Given the description of an element on the screen output the (x, y) to click on. 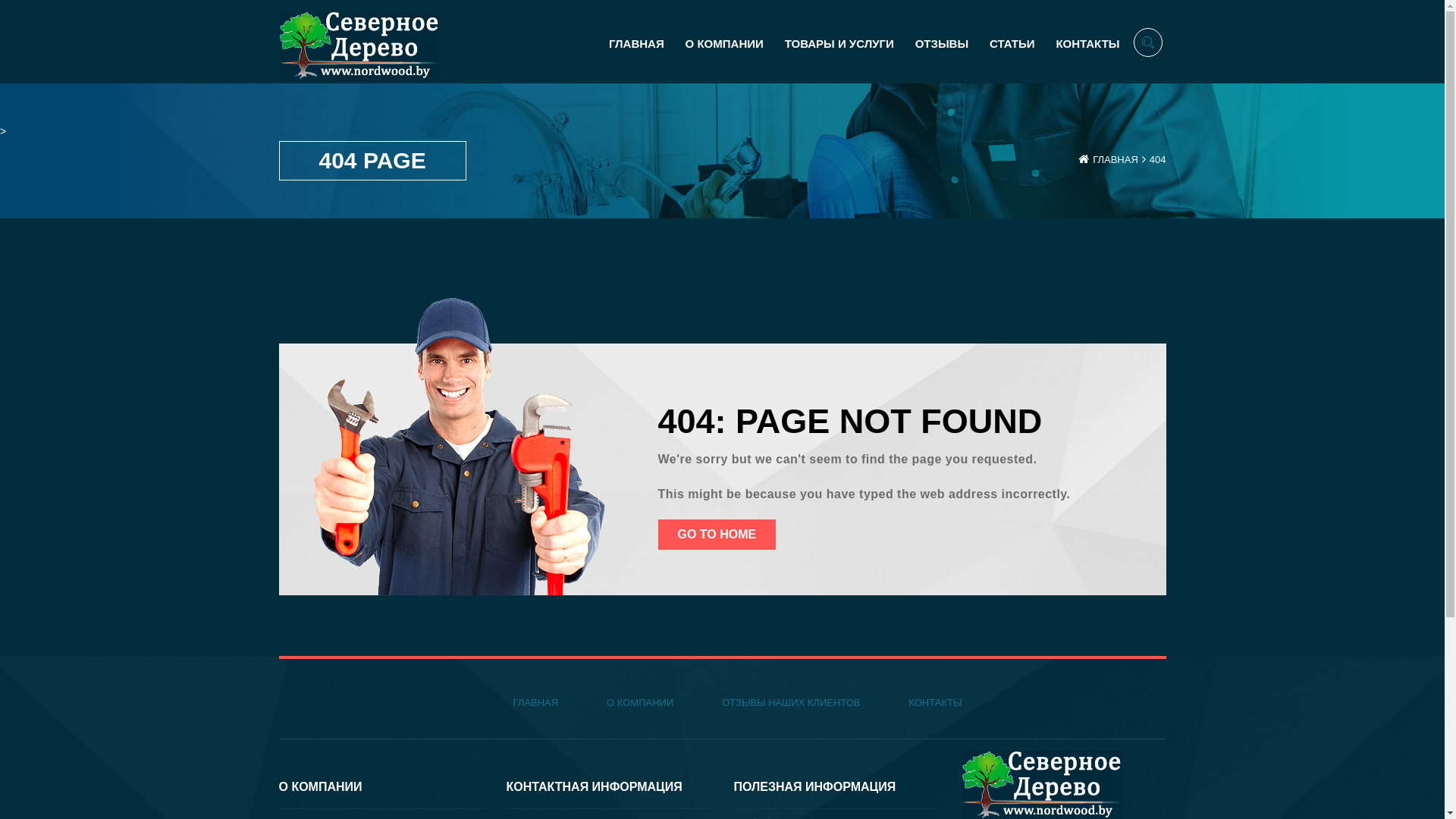
GO TO HOME Element type: text (717, 534)
